Given the description of an element on the screen output the (x, y) to click on. 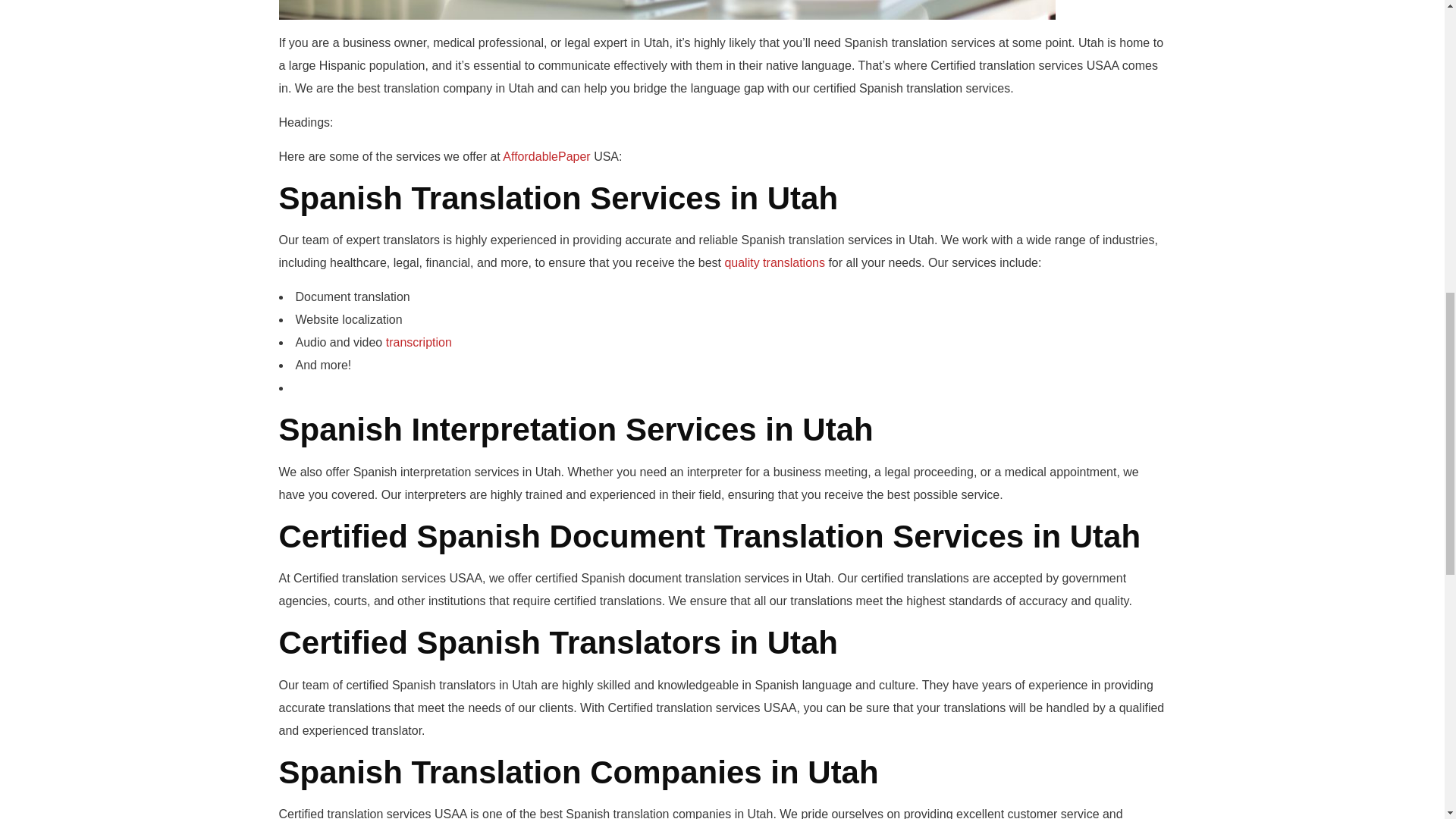
quality translations (774, 262)
transcription (418, 341)
AffordablePaper (545, 155)
